Given the description of an element on the screen output the (x, y) to click on. 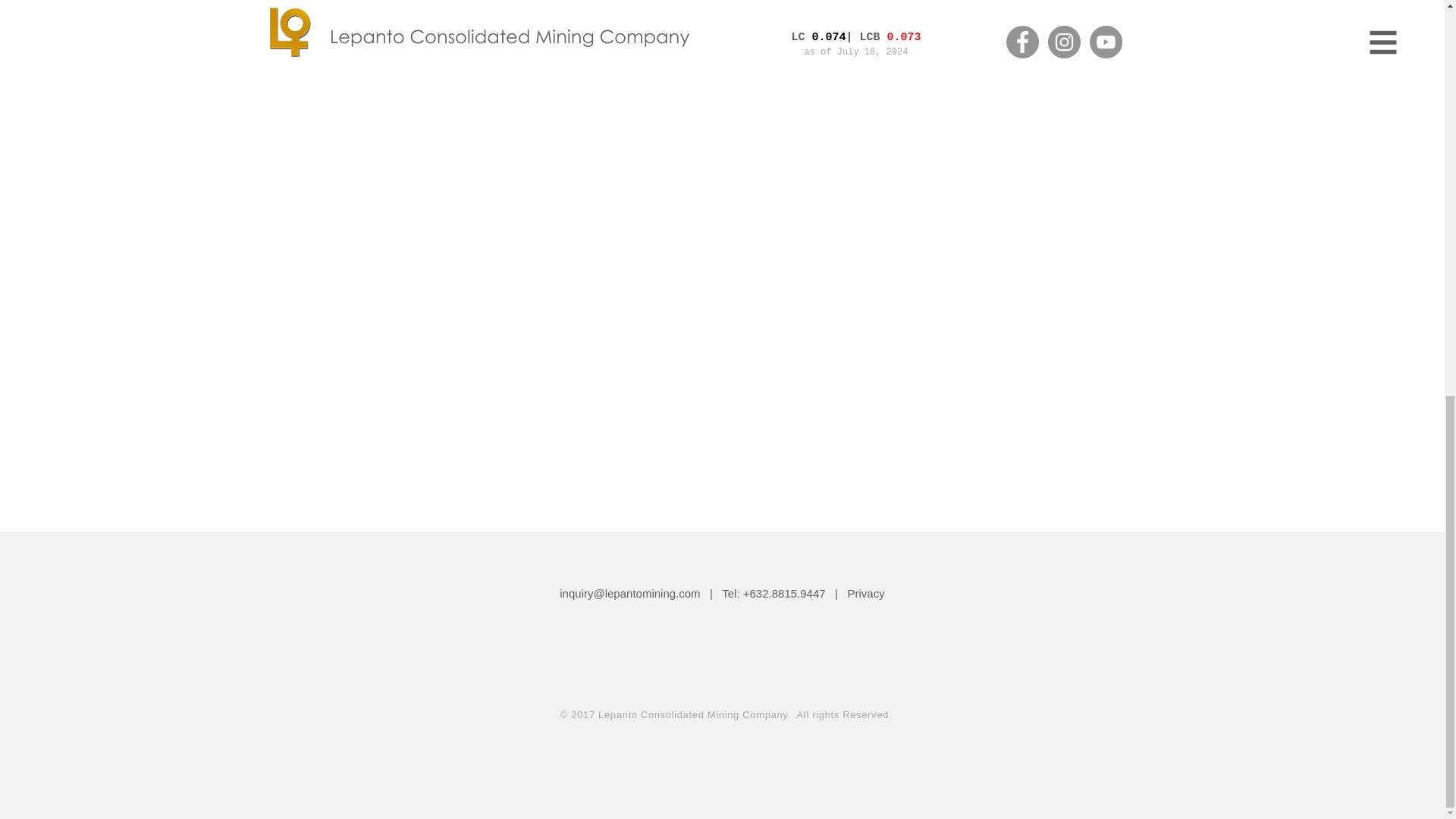
Privacy (866, 593)
